Given the description of an element on the screen output the (x, y) to click on. 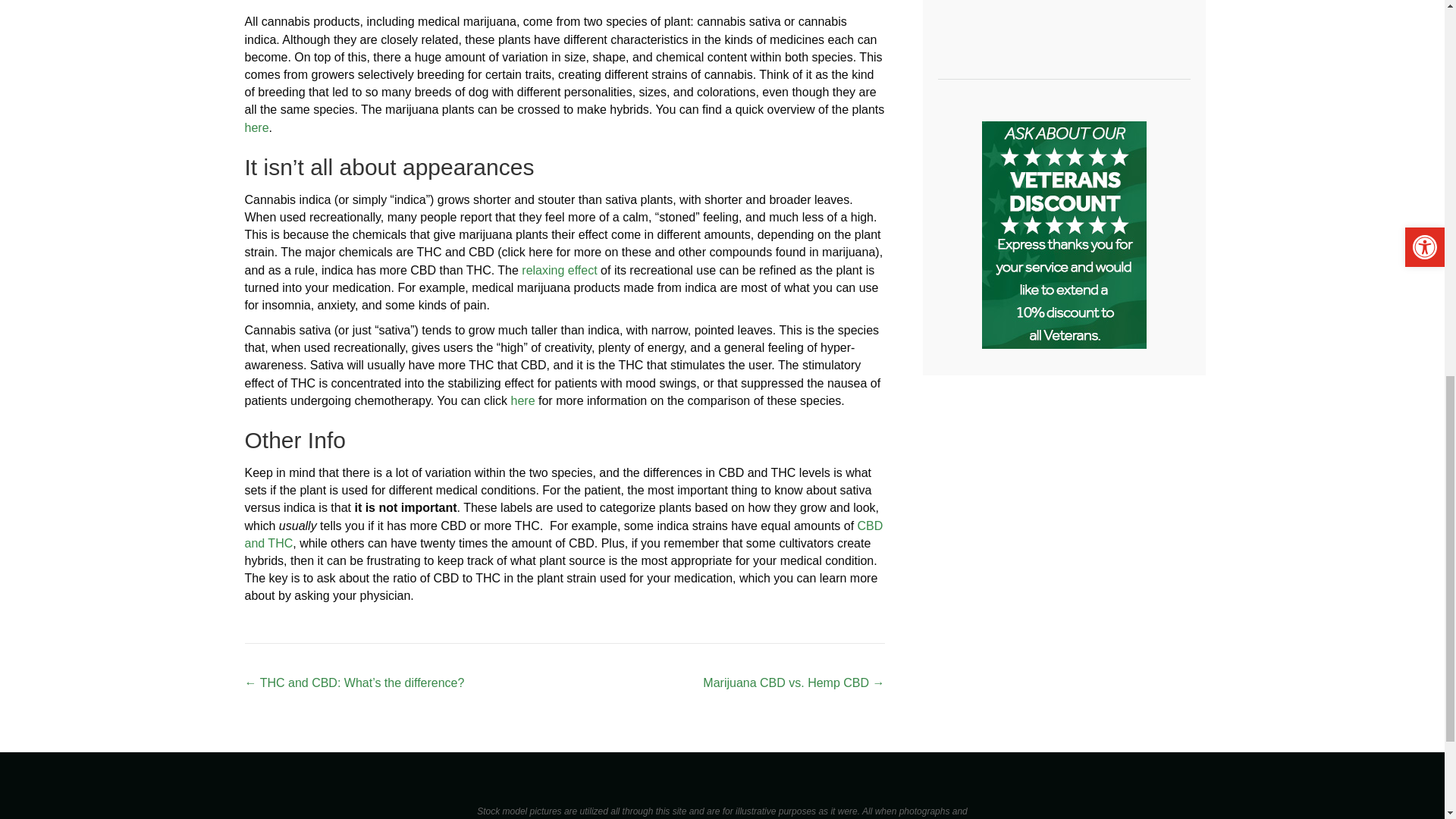
vetSideBar (1063, 234)
yelp-logo (1063, 12)
